Given the description of an element on the screen output the (x, y) to click on. 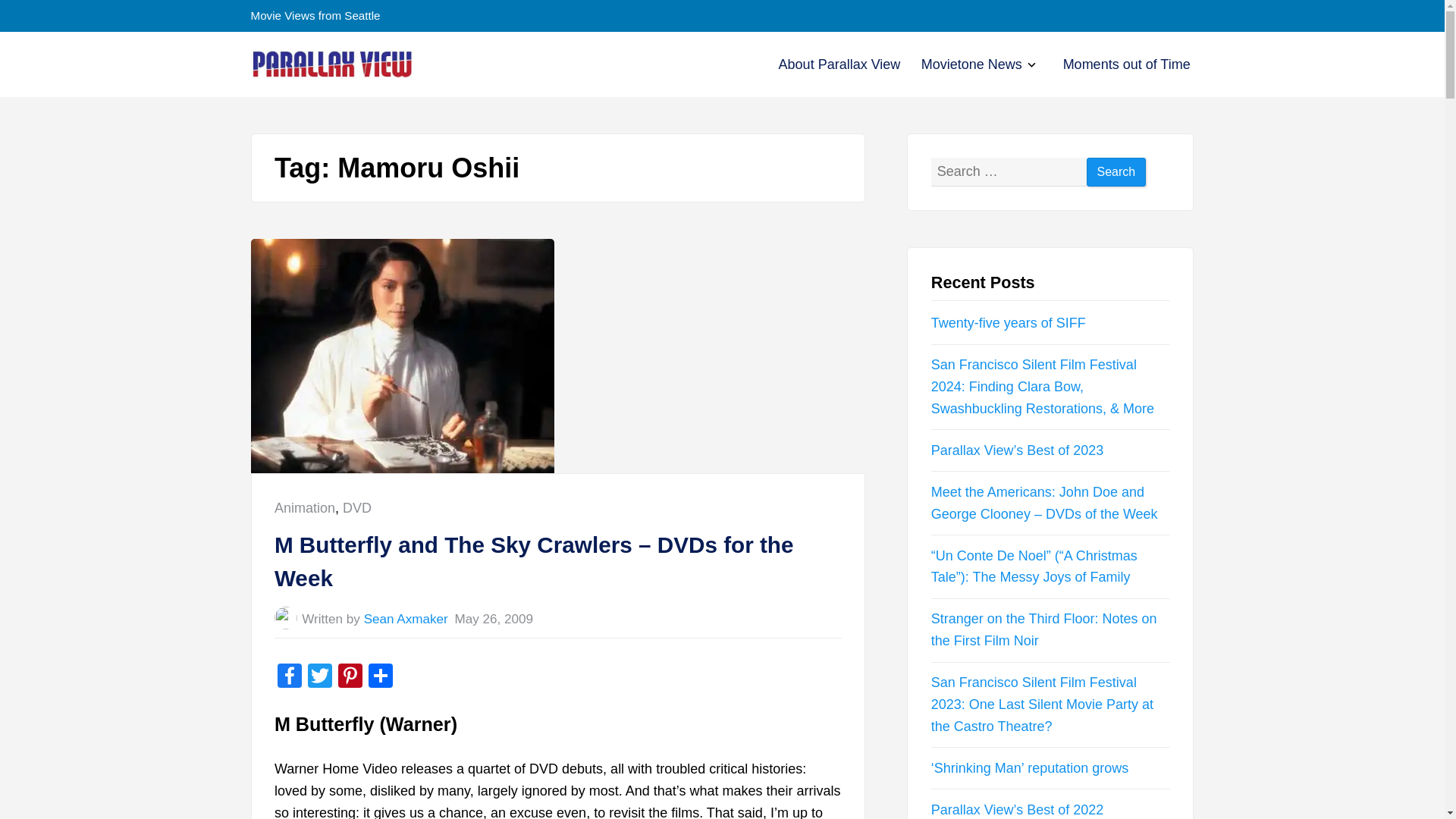
Twenty-five years of SIFF (1008, 322)
May 26, 2009 (494, 618)
Movietone News (971, 64)
About Parallax View (839, 64)
Stranger on the Third Floor: Notes on the First Film Noir (1044, 629)
Facebook (289, 677)
Search (1115, 172)
Animation (304, 507)
About Parallax View (839, 64)
Pinterest (349, 677)
Search (1029, 66)
DVD (1115, 172)
Twitter (356, 507)
